Given the description of an element on the screen output the (x, y) to click on. 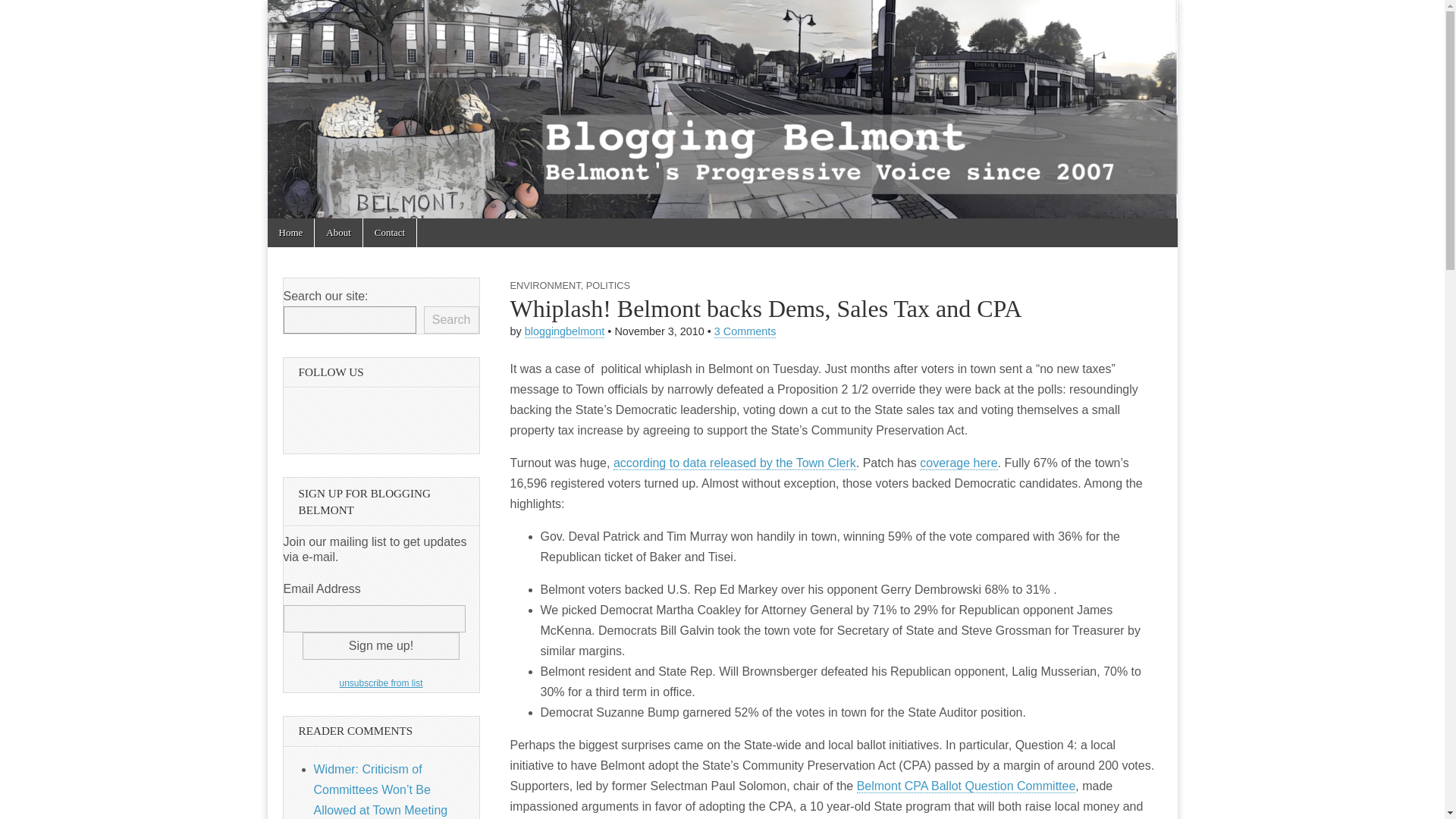
Belmont CPA Ballot Question Committee (966, 786)
Sign me up! (380, 646)
bloggingbelmont (564, 331)
Instagram (380, 416)
Blogging Belmont (349, 58)
Posts by bloggingbelmont (564, 331)
About (338, 232)
ENVIRONMENT (544, 285)
unsubscribe from list (380, 683)
Twitter (341, 416)
